Given the description of an element on the screen output the (x, y) to click on. 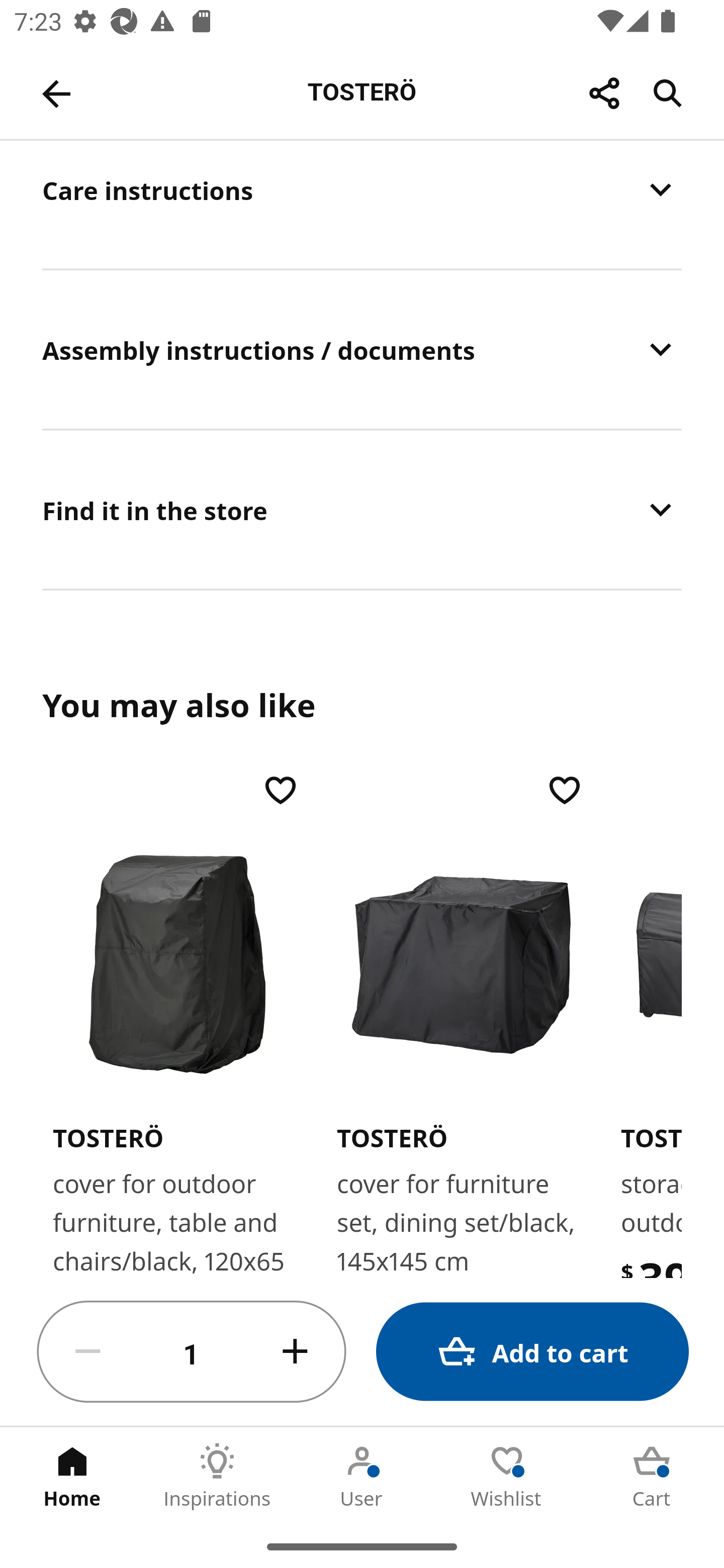
Care instructions (361, 203)
Assembly instructions / documents (361, 348)
Find it in the store (361, 509)
Add to cart (531, 1352)
1 (191, 1352)
Home
Tab 1 of 5 (72, 1476)
Inspirations
Tab 2 of 5 (216, 1476)
User
Tab 3 of 5 (361, 1476)
Wishlist
Tab 4 of 5 (506, 1476)
Cart
Tab 5 of 5 (651, 1476)
